Given the description of an element on the screen output the (x, y) to click on. 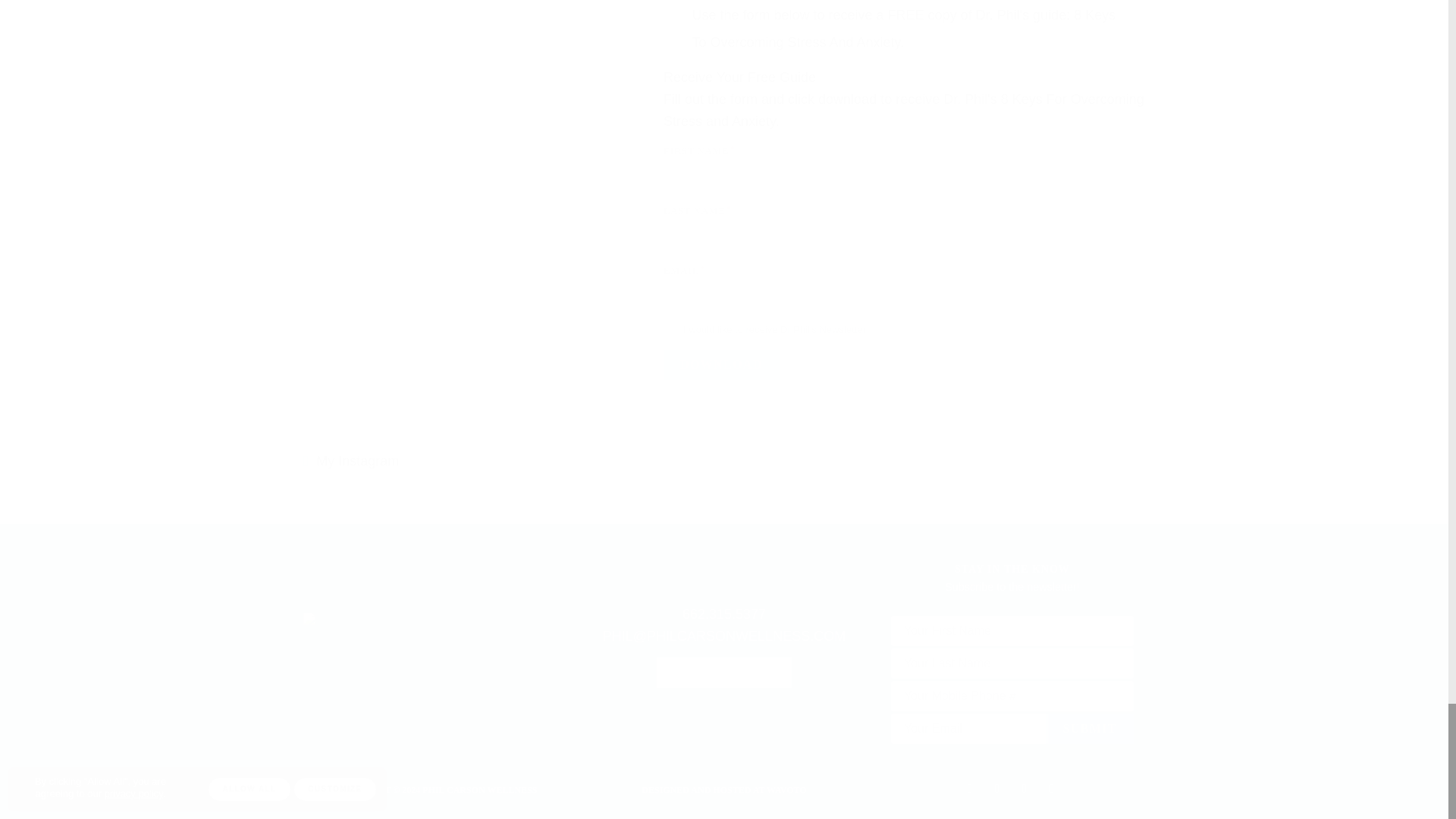
Submit (1089, 728)
DOWNLOAD (720, 364)
GET IN TOUCH (724, 672)
WAVOTO (786, 789)
Submit (1089, 728)
